Given the description of an element on the screen output the (x, y) to click on. 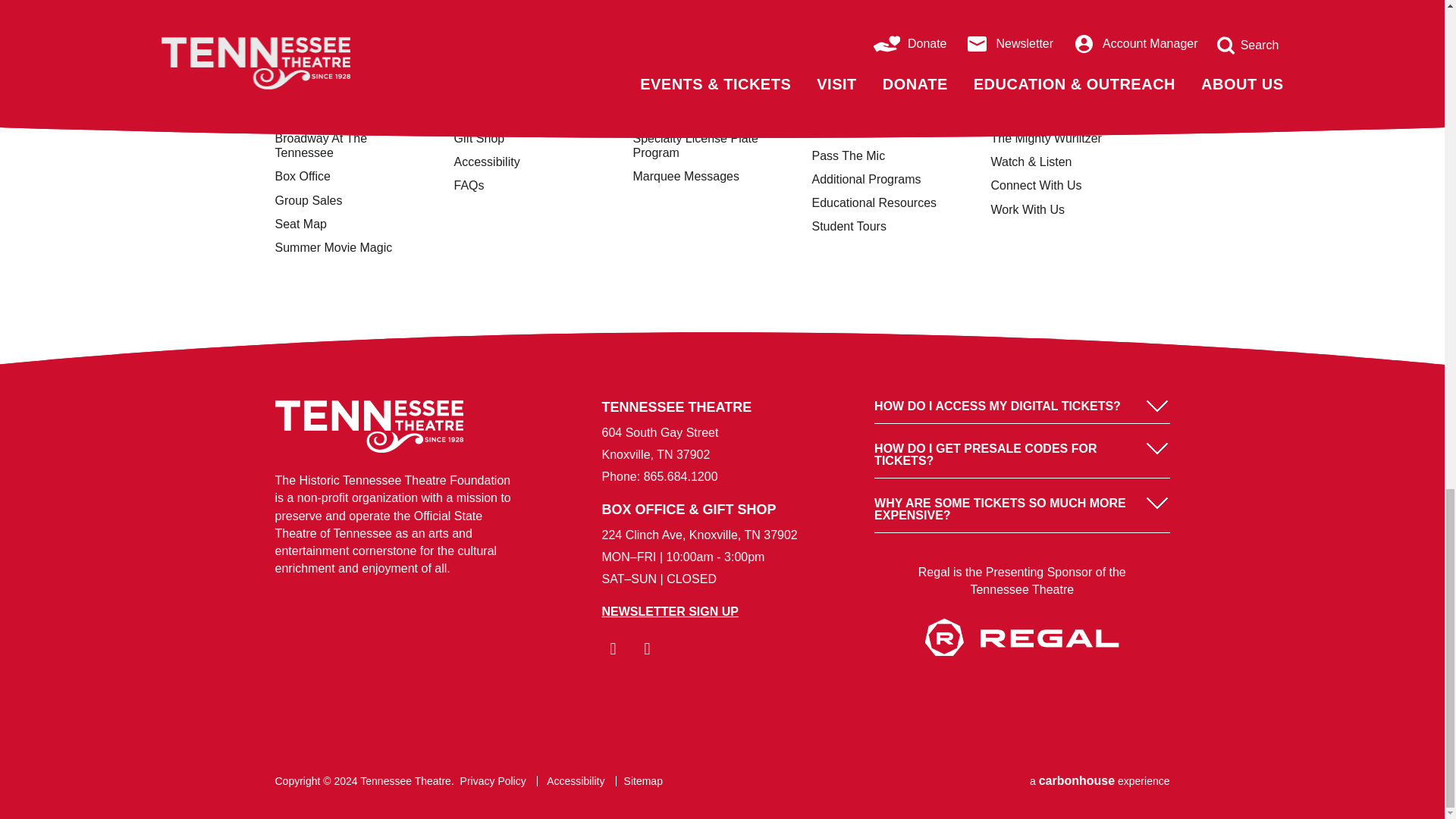
a carbonhouse experience (1099, 781)
Facebook (613, 649)
Instagram (646, 649)
Regal (1021, 651)
Tennessee Theatre (369, 426)
Newsletter Sign Up (670, 611)
